Given the description of an element on the screen output the (x, y) to click on. 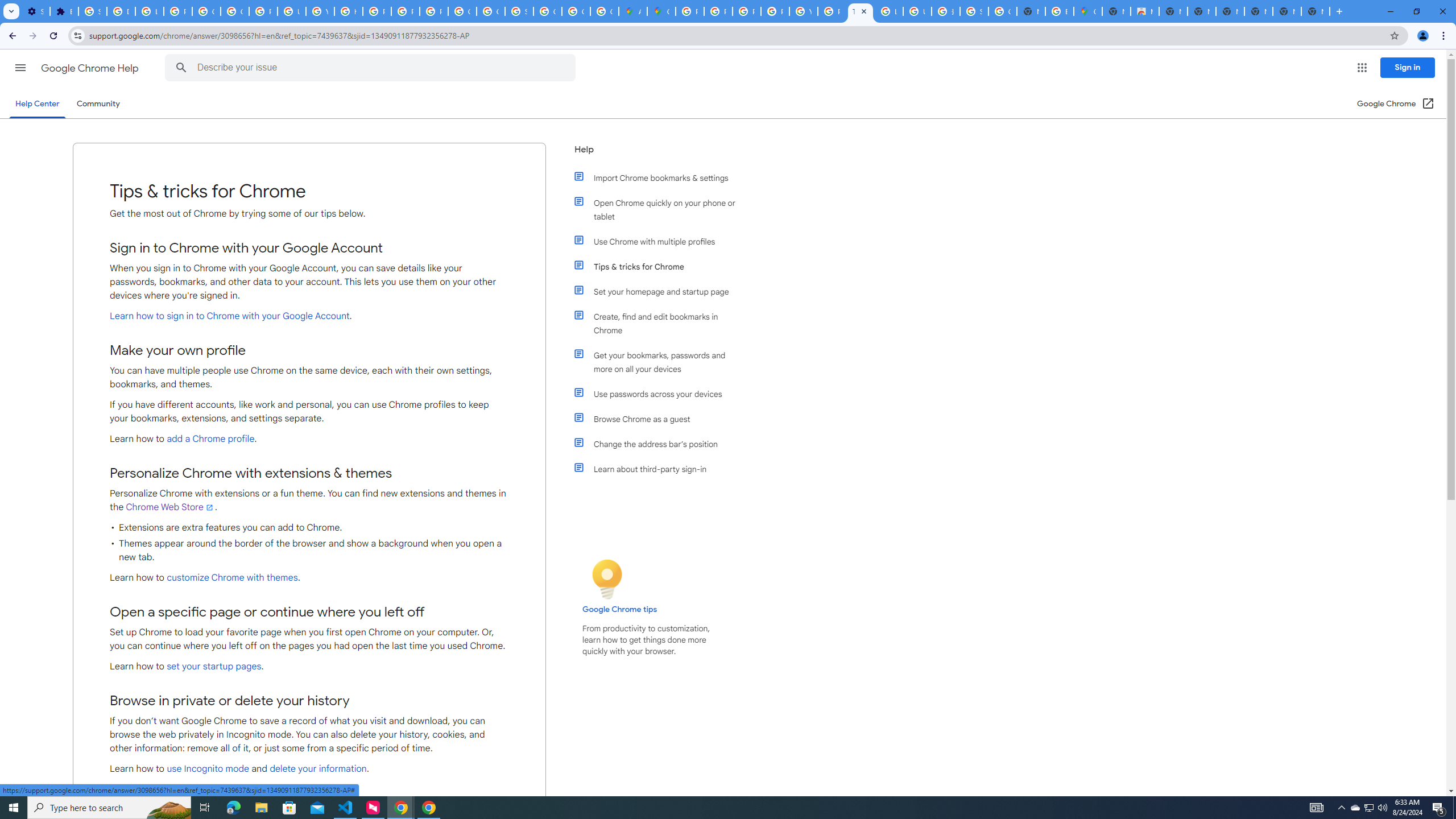
Settings - On startup (35, 11)
Chrome Web Store (170, 506)
Privacy Help Center - Policies Help (718, 11)
Google Chrome tips (620, 609)
Use Chrome with multiple profiles (661, 241)
Privacy Help Center - Policies Help (746, 11)
Google Chrome (Open in a new window) (1395, 103)
